Given the description of an element on the screen output the (x, y) to click on. 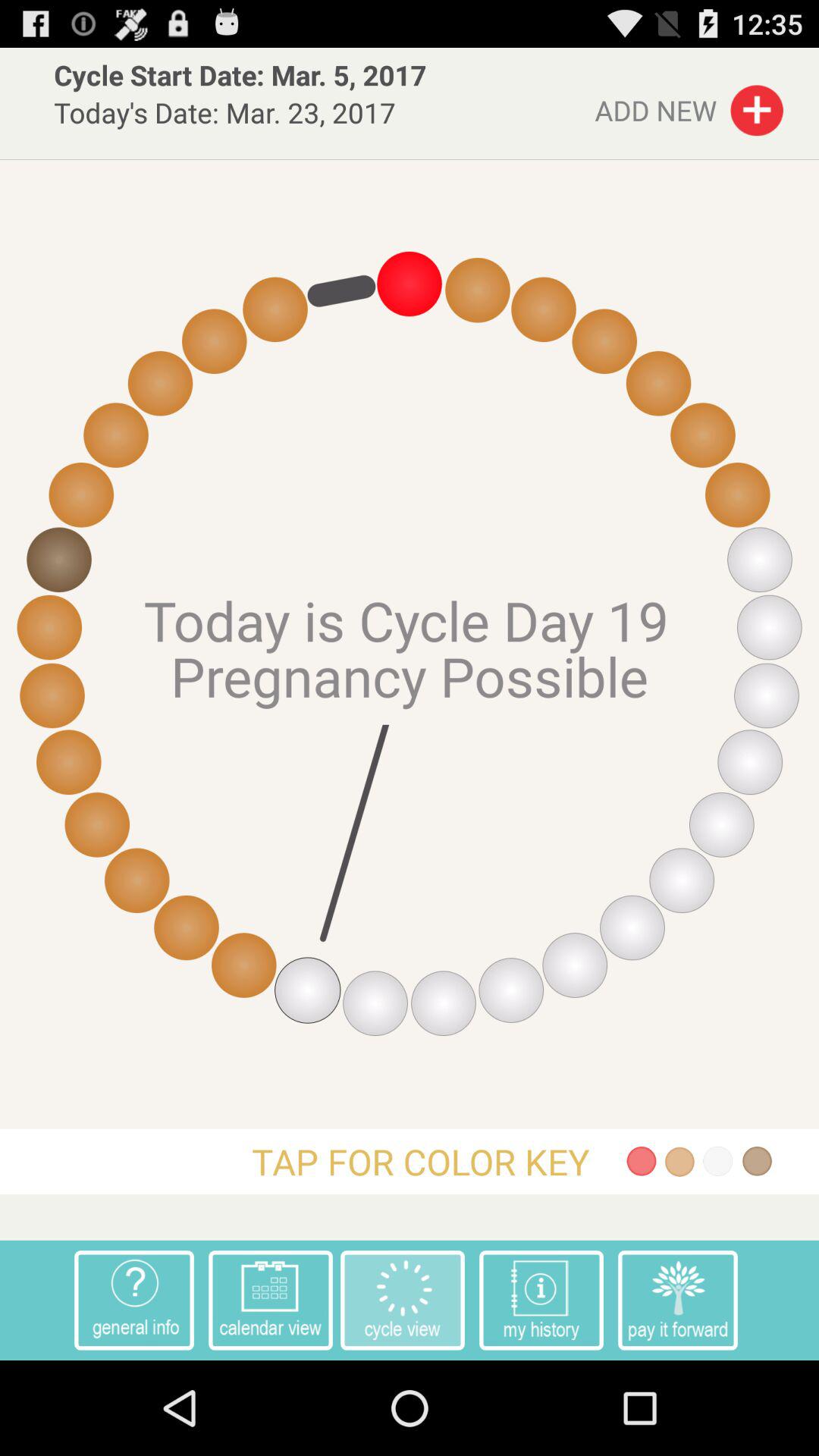
press the add new   button (688, 106)
